Given the description of an element on the screen output the (x, y) to click on. 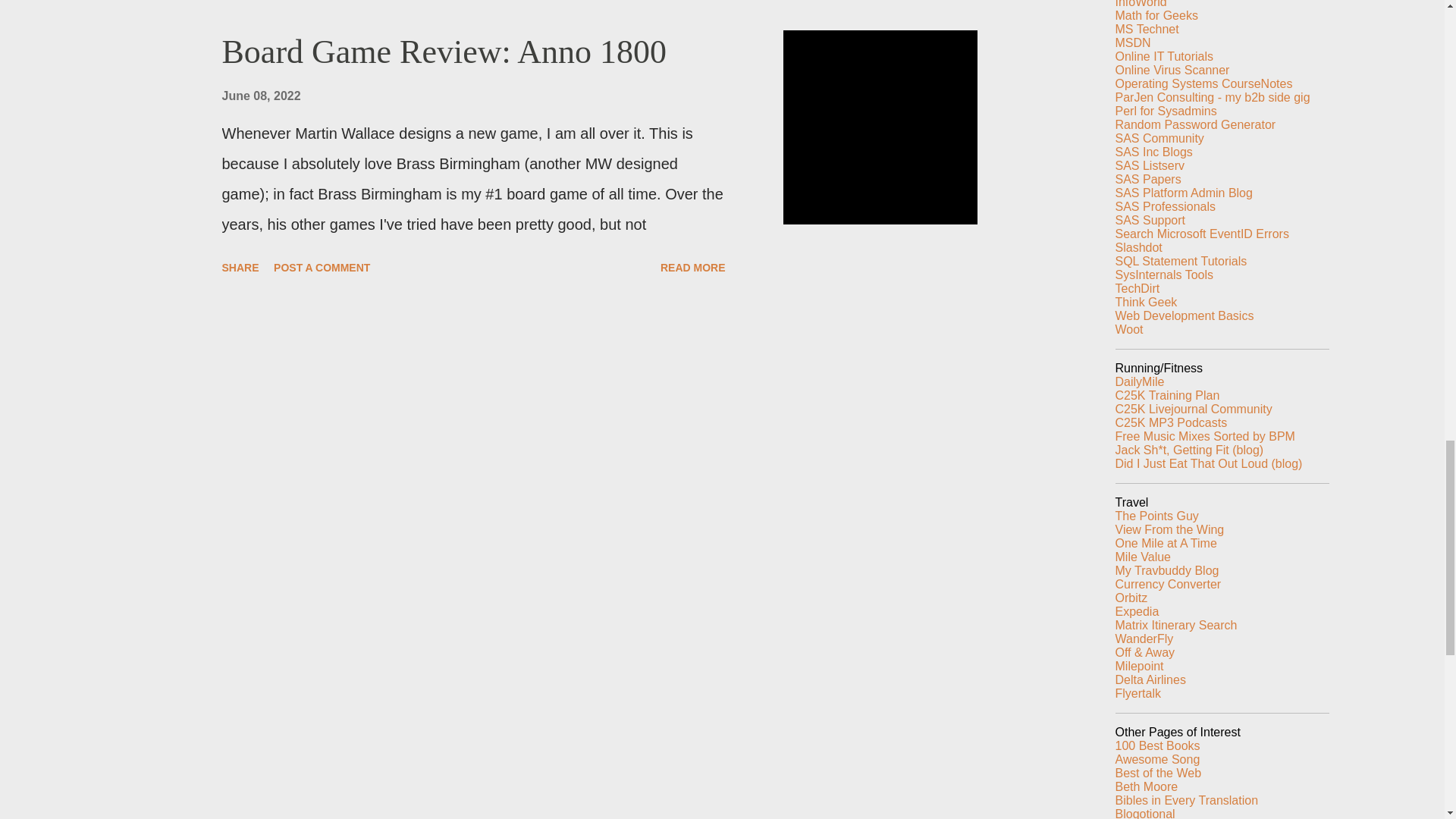
June 08, 2022 (260, 95)
READ MORE (692, 267)
SHARE (239, 267)
POST A COMMENT (321, 267)
Board Game Review: Anno 1800 (443, 51)
